Given the description of an element on the screen output the (x, y) to click on. 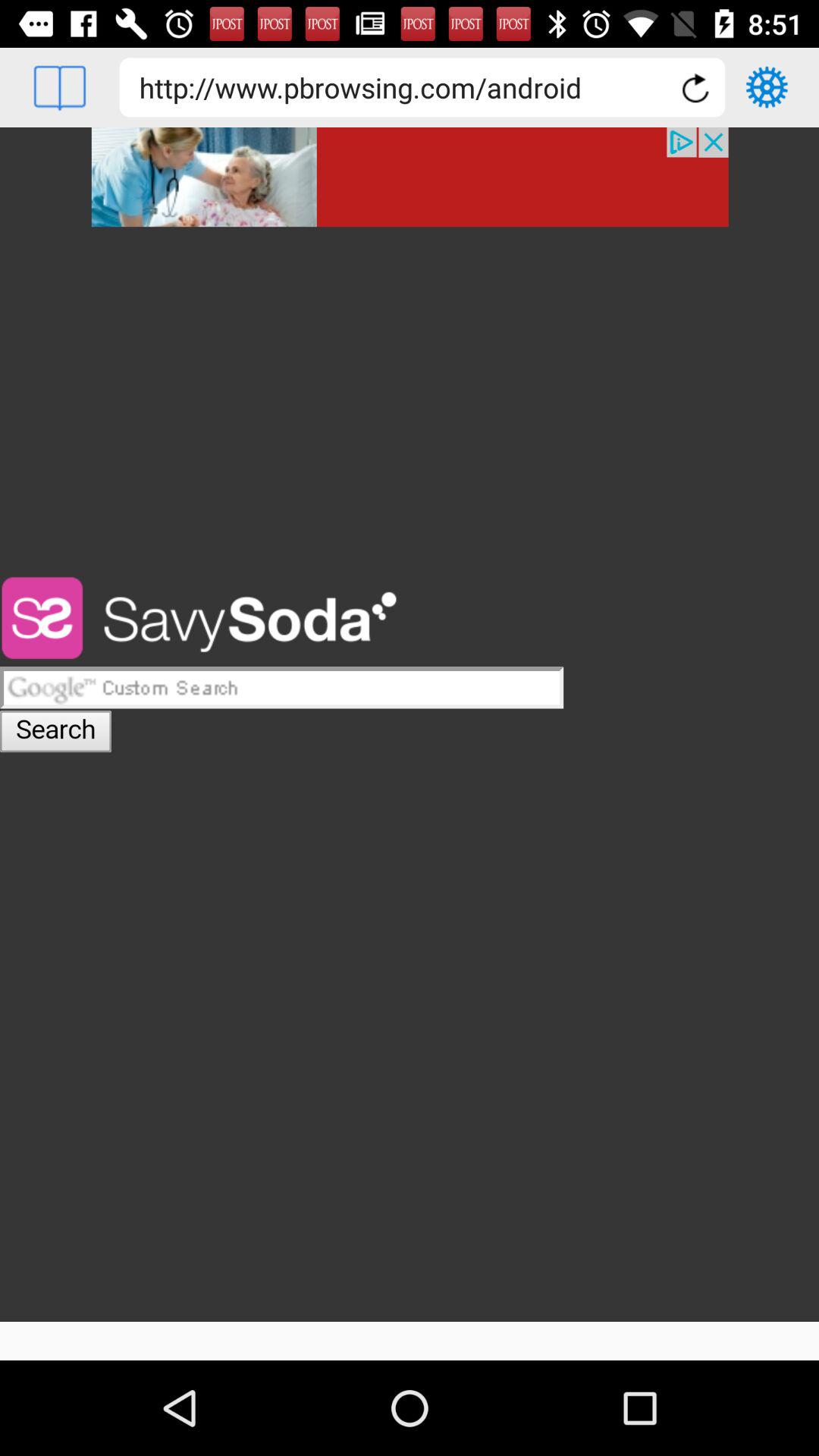
settings (766, 87)
